Given the description of an element on the screen output the (x, y) to click on. 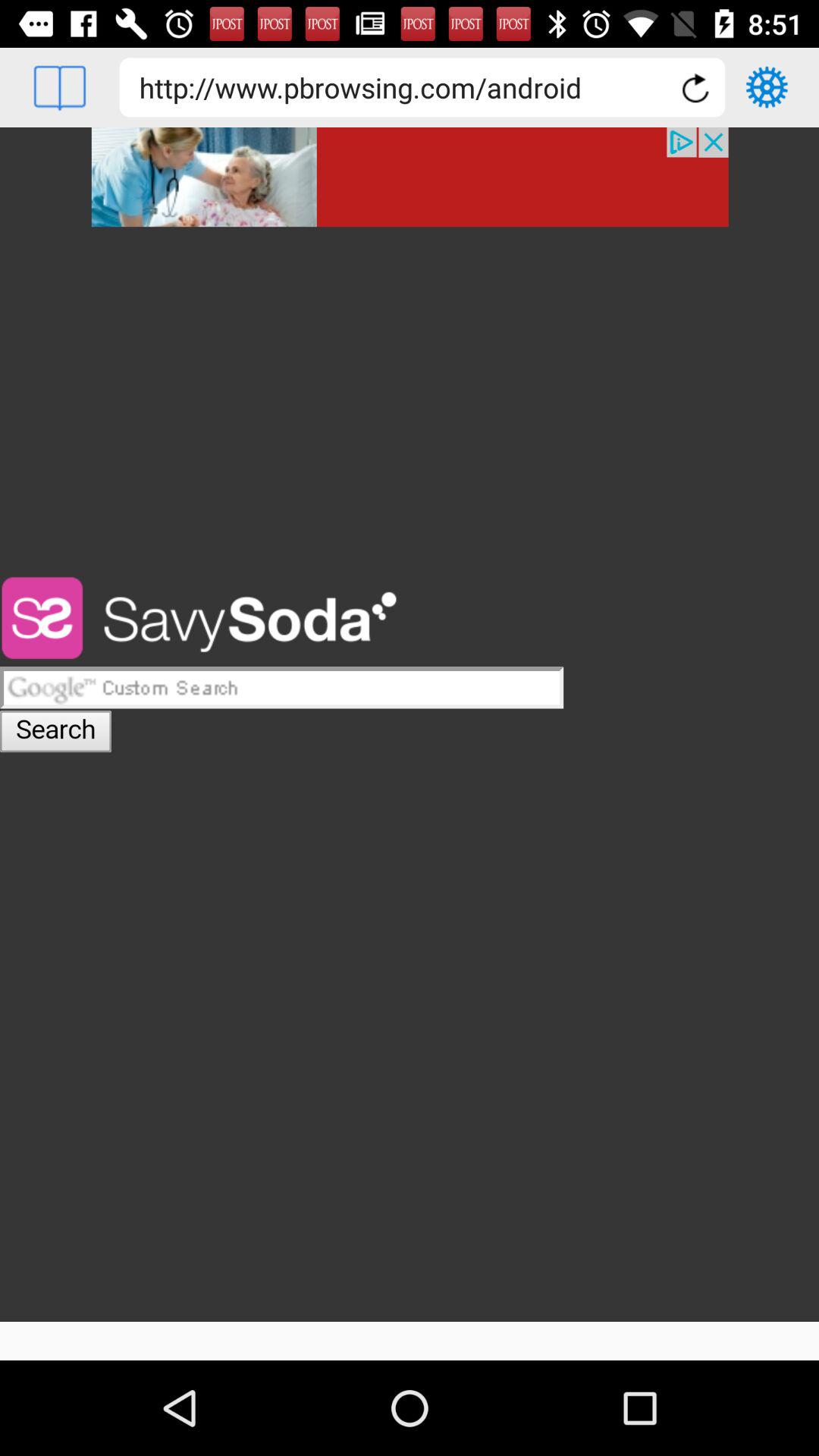
settings (766, 87)
